Given the description of an element on the screen output the (x, y) to click on. 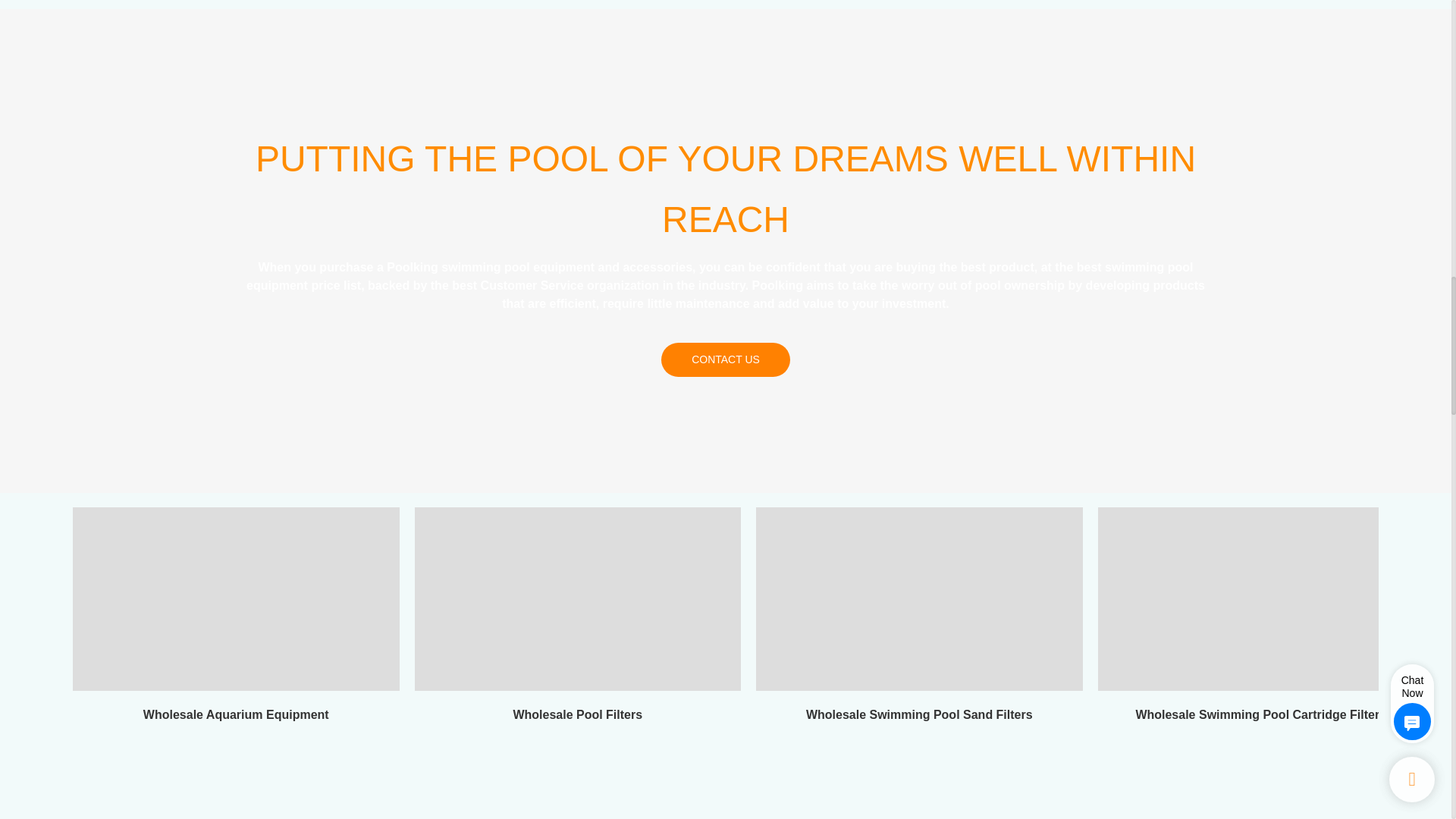
Wholesale Swimming Pool Cartridge Filters (1261, 619)
Wholesale Swimming Pool Sand Filters (919, 619)
Wholesale Pool Filters (577, 619)
Wholesale Aquarium Equipment (235, 619)
